Given the description of an element on the screen output the (x, y) to click on. 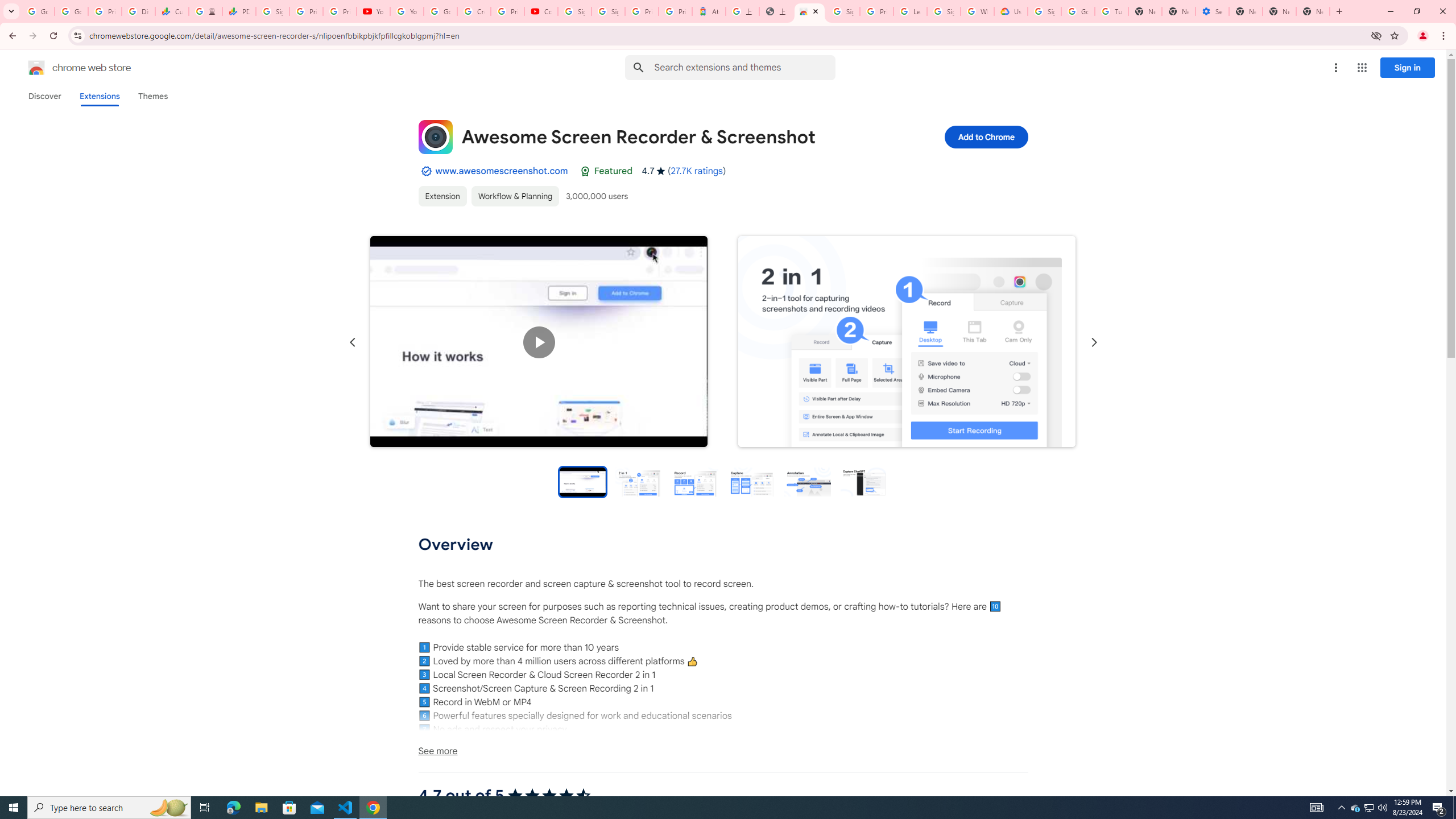
Turn cookies on or off - Computer - Google Account Help (1111, 11)
www.awesomescreenshot.com (501, 170)
Chrome Web Store logo chrome web store (67, 67)
PDD Holdings Inc - ADR (PDD) Price & News - Google Finance (238, 11)
Discover (43, 95)
Preview slide 4 (751, 481)
Extensions (99, 95)
